Given the description of an element on the screen output the (x, y) to click on. 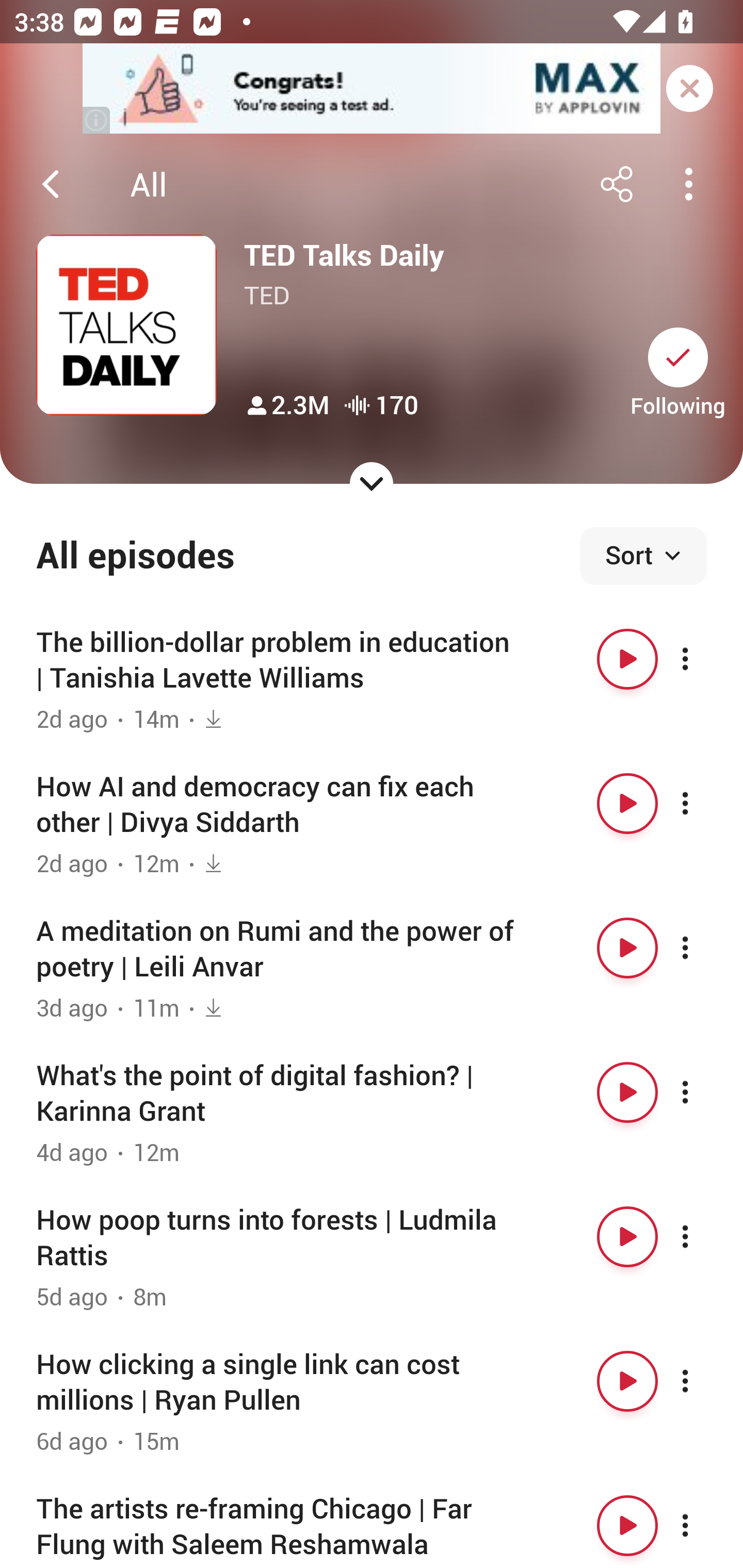
app-monetization (371, 88)
(i) (96, 119)
Back (50, 184)
Unsubscribe button (677, 357)
Sort episodes Sort (643, 555)
Play button (627, 659)
More options (703, 659)
Play button (627, 803)
More options (703, 803)
Play button (627, 947)
More options (703, 947)
Play button (627, 1092)
More options (703, 1092)
Play button (627, 1236)
More options (703, 1236)
Play button (627, 1381)
More options (703, 1381)
Play button (627, 1525)
More options (703, 1525)
